Given the description of an element on the screen output the (x, y) to click on. 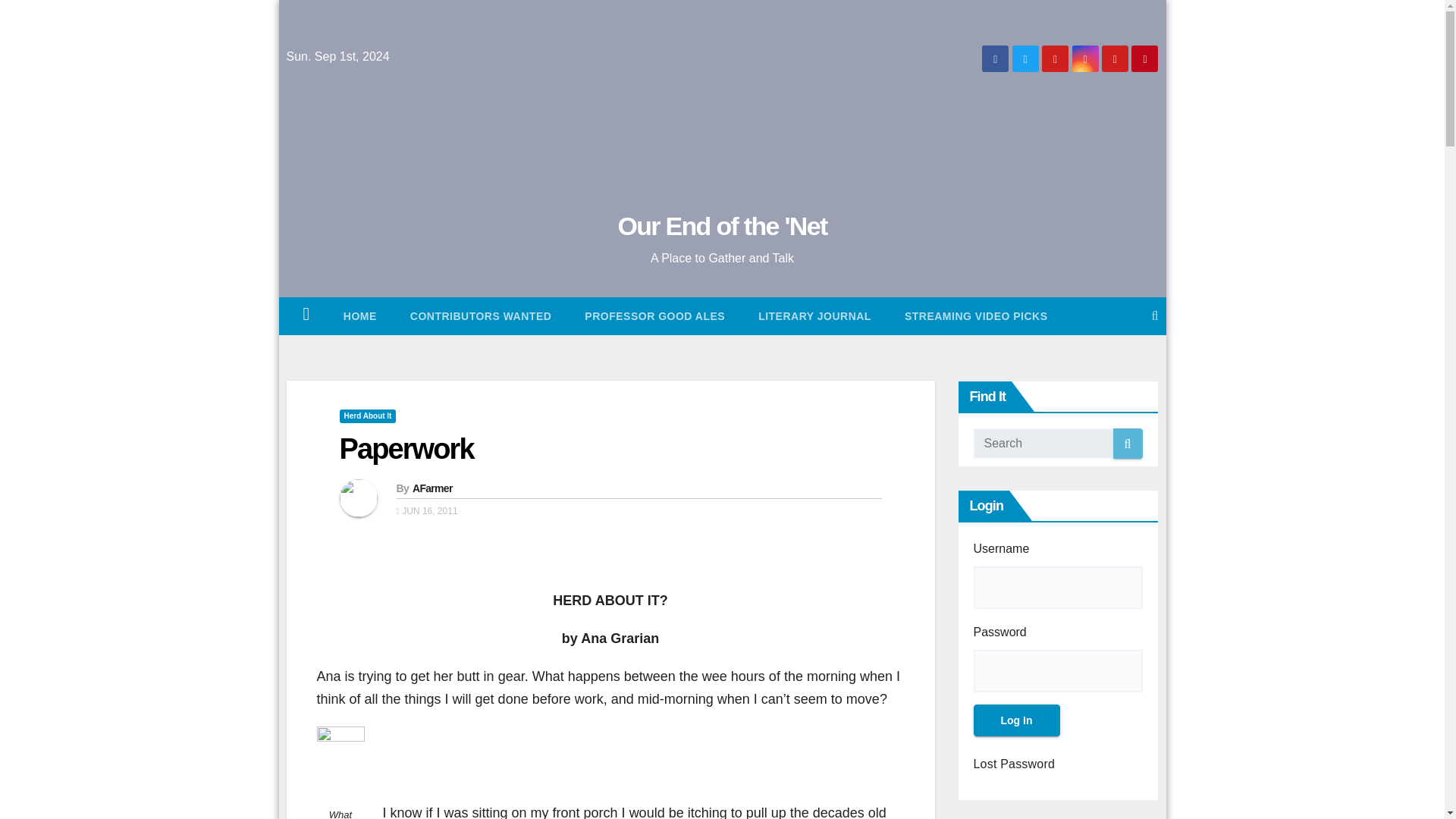
Our End of the 'Net (722, 225)
PROFESSOR GOOD ALES (654, 315)
AFarmer (432, 488)
CONTRIBUTORS WANTED (481, 315)
Literary Journal (814, 315)
Contributors Wanted (481, 315)
Professor Good Ales (654, 315)
Home (359, 315)
Herd About It (367, 416)
LITERARY JOURNAL (814, 315)
